Given the description of an element on the screen output the (x, y) to click on. 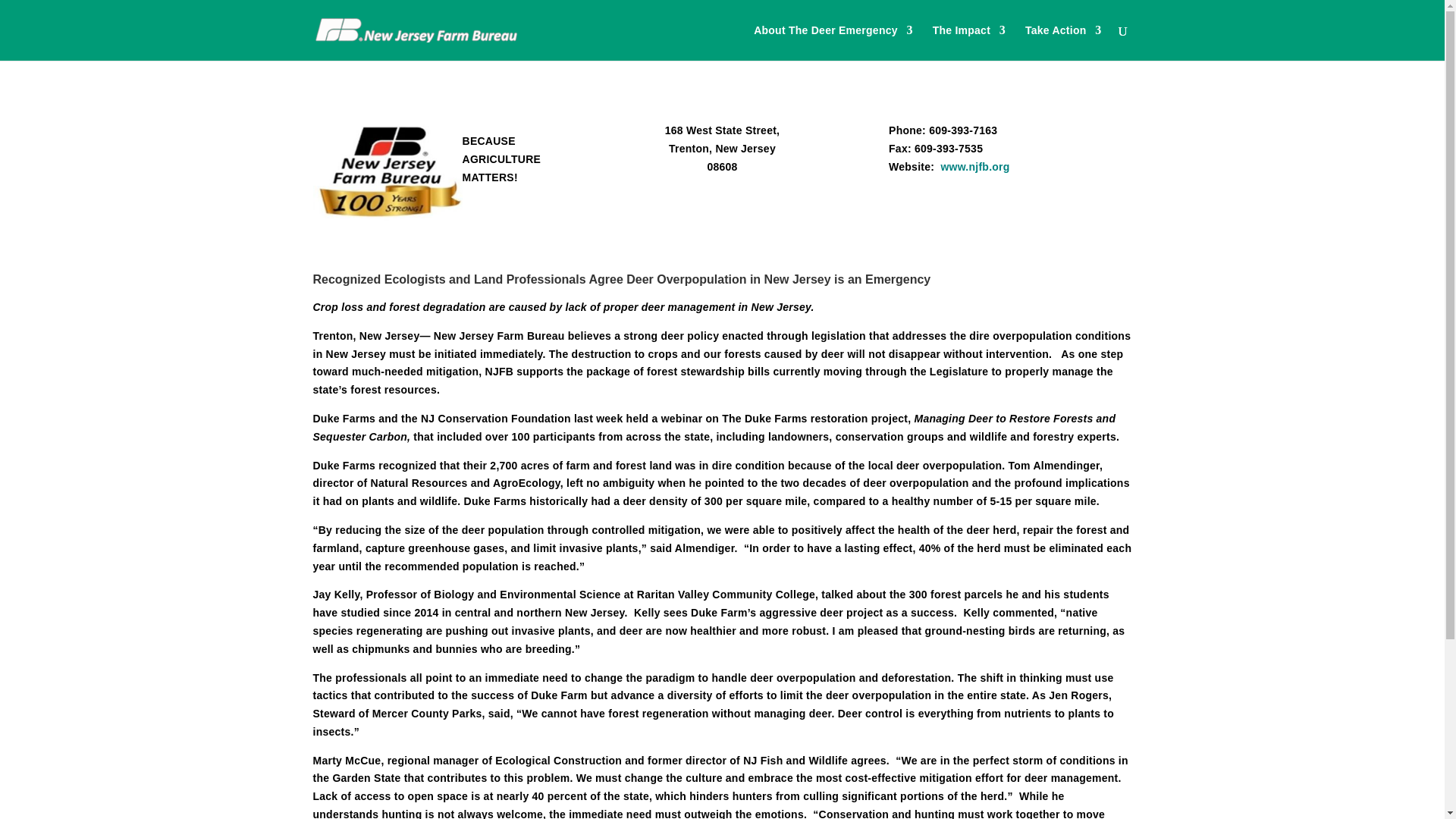
www.njfb.org (974, 166)
Take Action (1063, 42)
The Impact (969, 42)
About The Deer Emergency (833, 42)
